Given the description of an element on the screen output the (x, y) to click on. 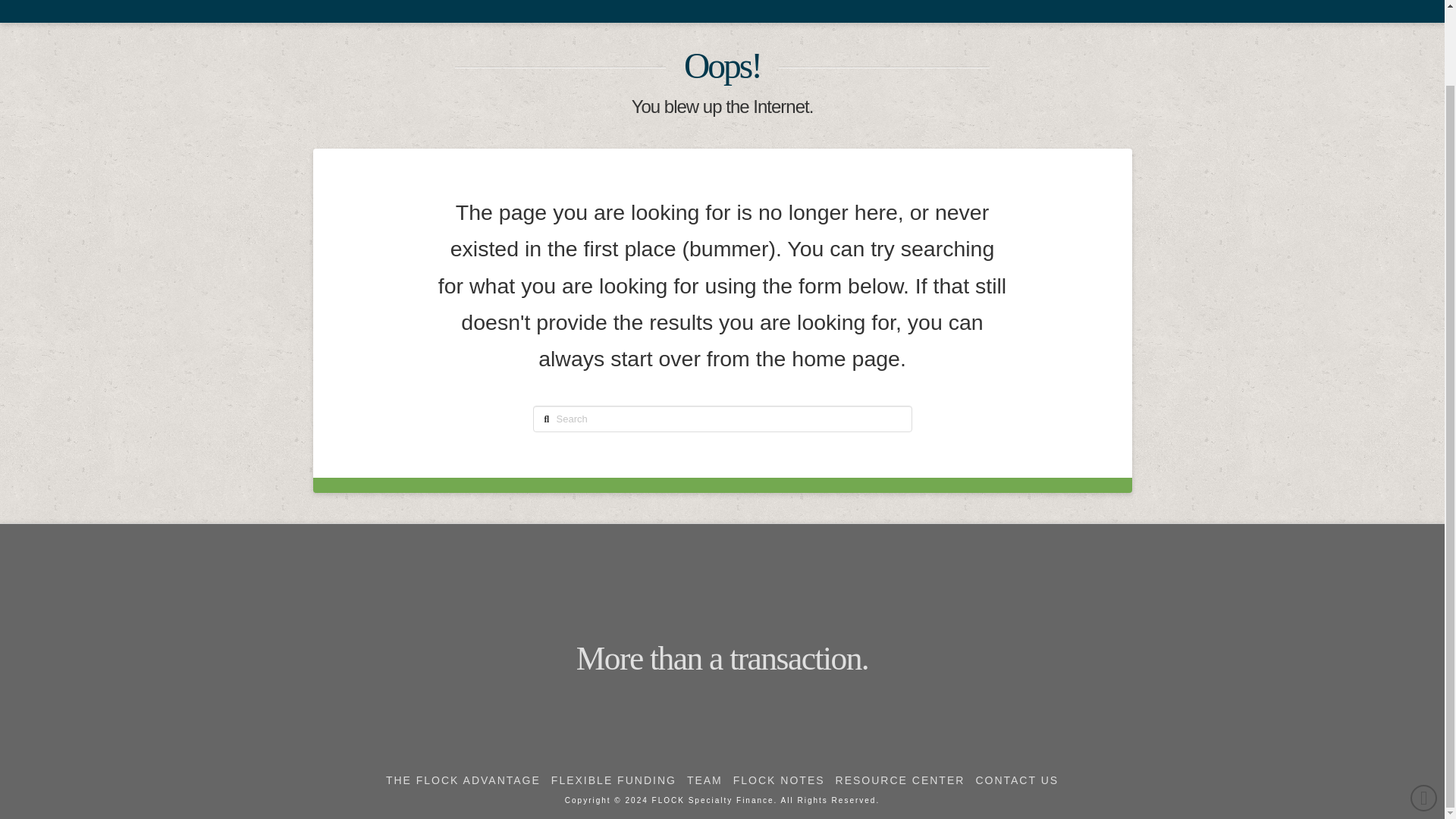
FLEXIBLE FUNDING (593, 3)
TEAM (696, 3)
FLEXIBLE FUNDING (614, 780)
TEAM (704, 780)
THE FLOCK ADVANTAGE (462, 780)
FLOCK NOTES (785, 3)
CONTACT US (1038, 3)
Back to Top (1423, 714)
THE FLOCK ADVANTAGE (444, 3)
RESOURCE CENTER (914, 3)
